Given the description of an element on the screen output the (x, y) to click on. 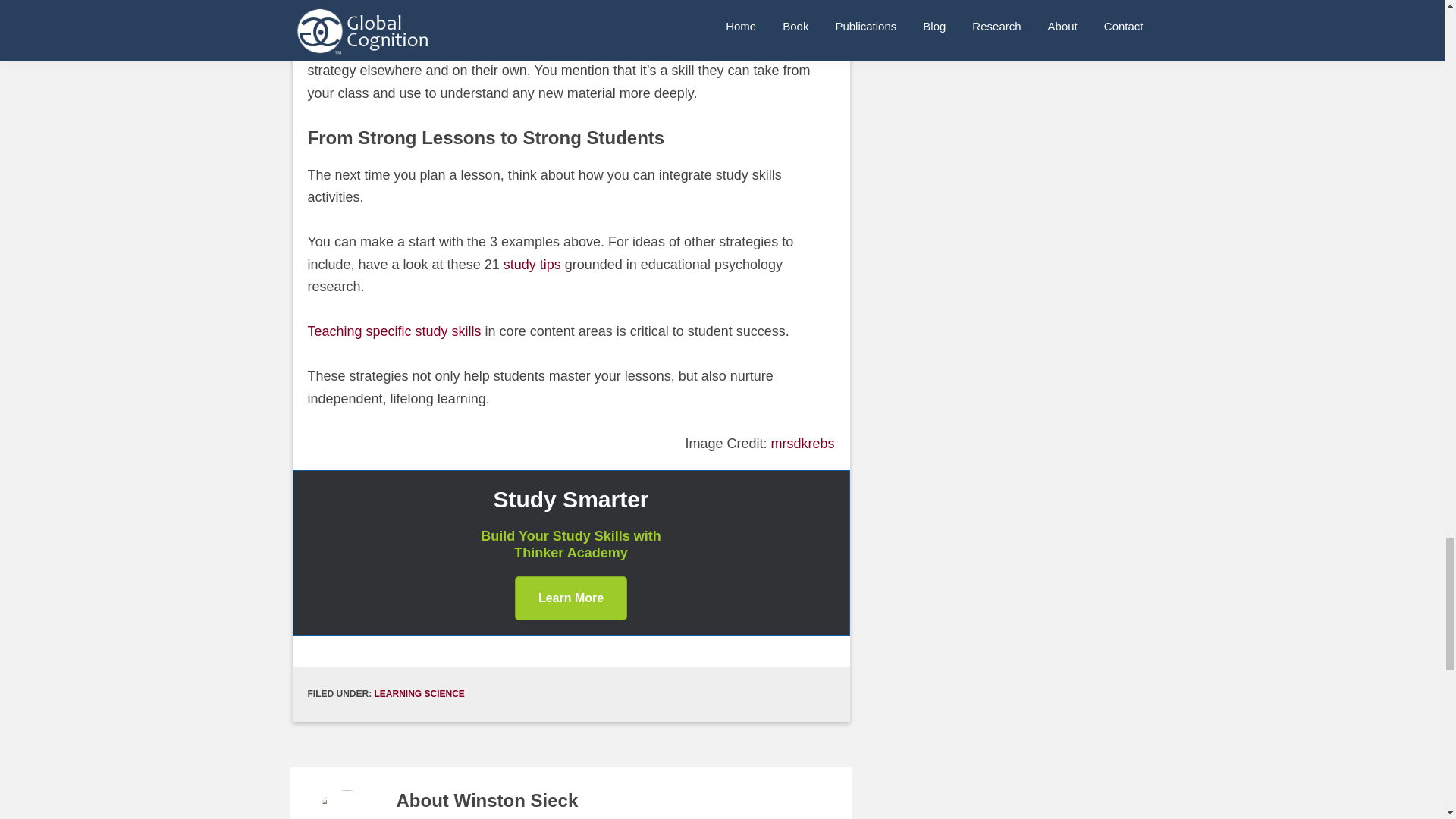
study tips (531, 264)
mrsdkrebs (802, 443)
LEARNING SCIENCE (419, 693)
Learn More (571, 597)
Teaching specific study skills (394, 331)
